Given the description of an element on the screen output the (x, y) to click on. 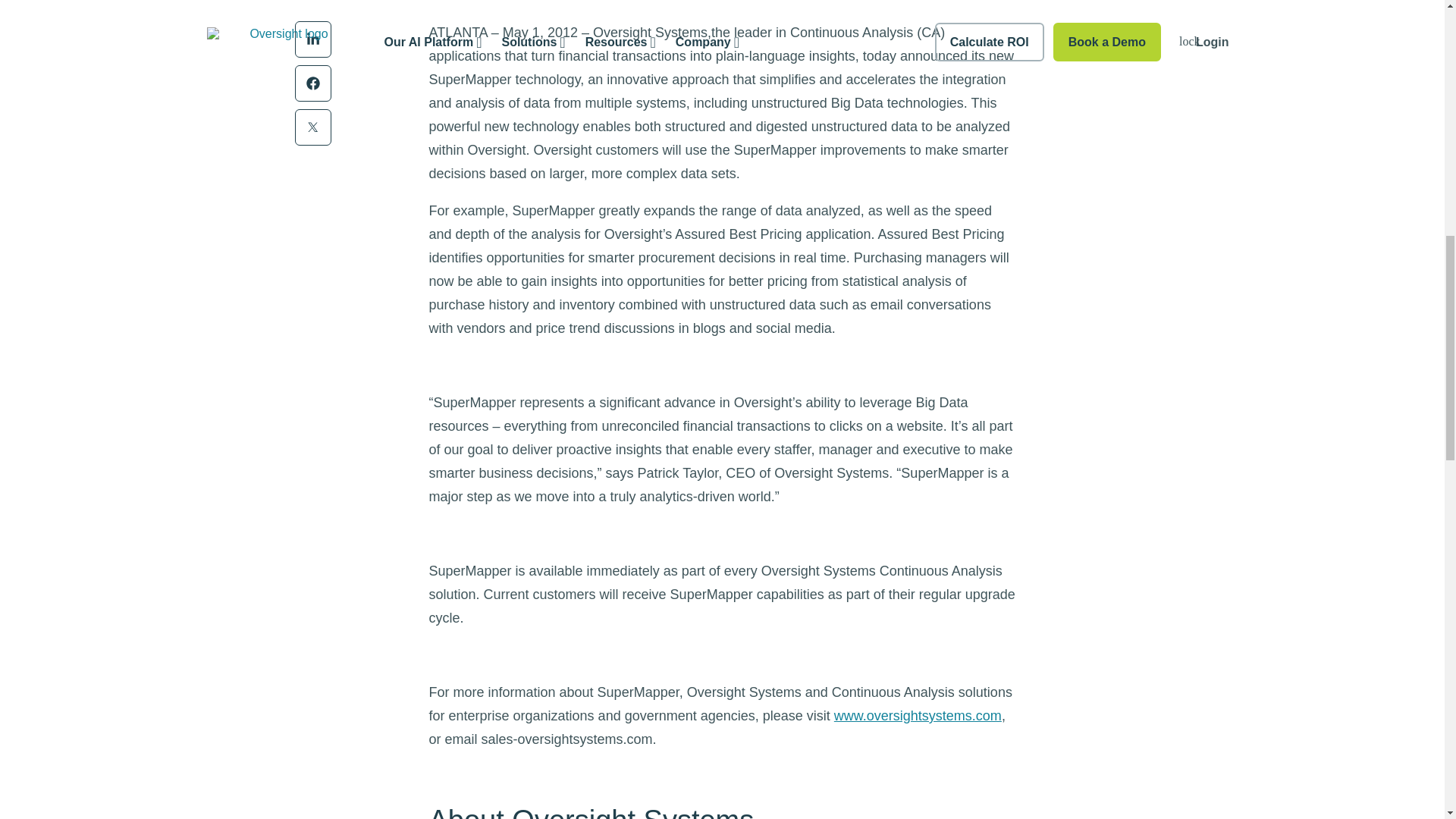
Tweet on Twitter (312, 126)
Share on Facebook (312, 83)
Share on LinkedIn (312, 39)
